Given the description of an element on the screen output the (x, y) to click on. 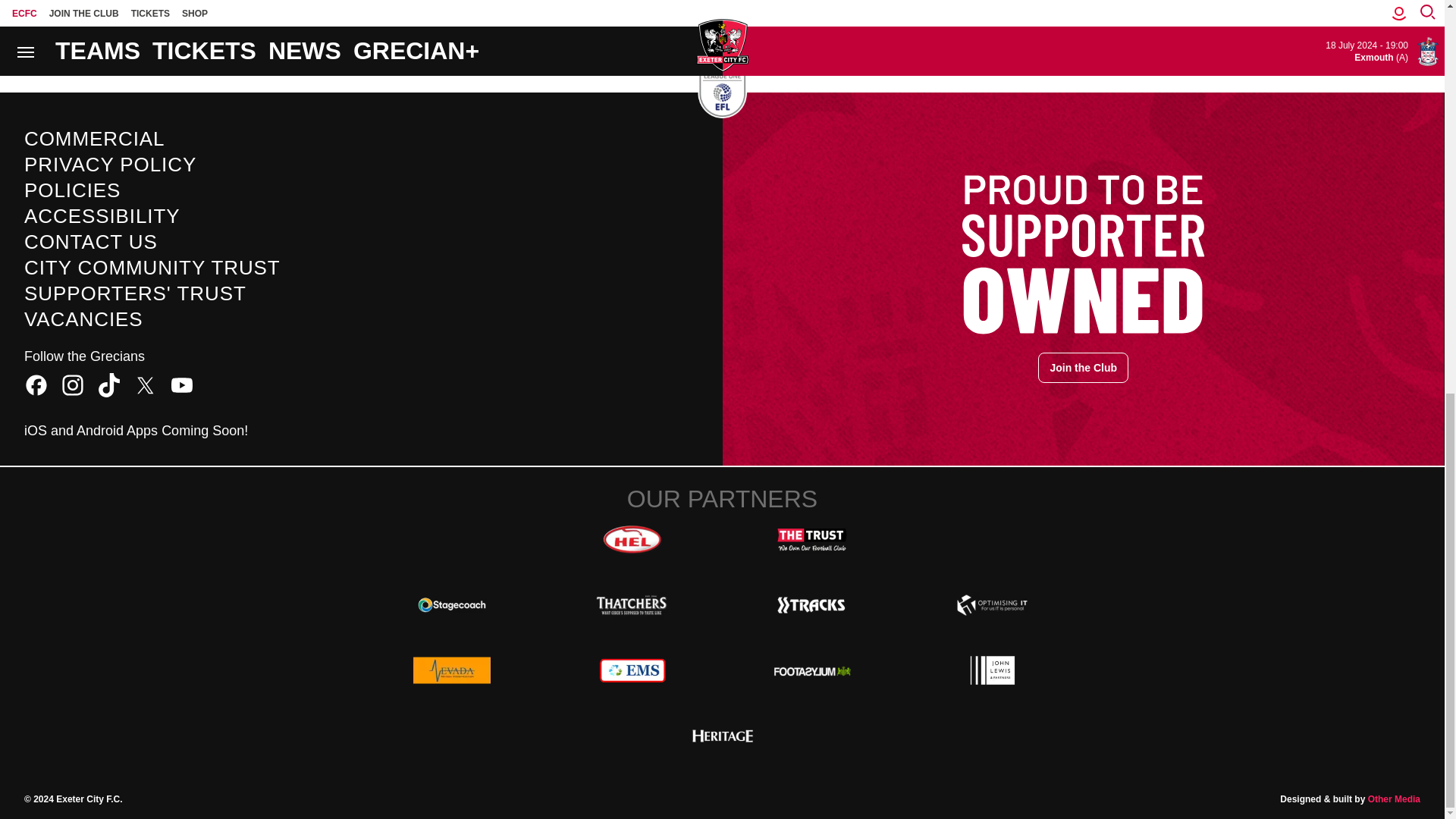
Tracks Suzuki (812, 604)
TikTok icon (108, 385)
Heritage Developments (721, 735)
Instagram (72, 385)
Thatchers (632, 604)
Optimising IT (991, 604)
The Trust (812, 539)
Facebook (36, 385)
HEL (632, 539)
John Lewis (991, 669)
EMS (632, 669)
Stagecoach (451, 604)
X Formally know as Twitter (145, 385)
Nevada Construction  (451, 669)
Footasylum (812, 669)
